Given the description of an element on the screen output the (x, y) to click on. 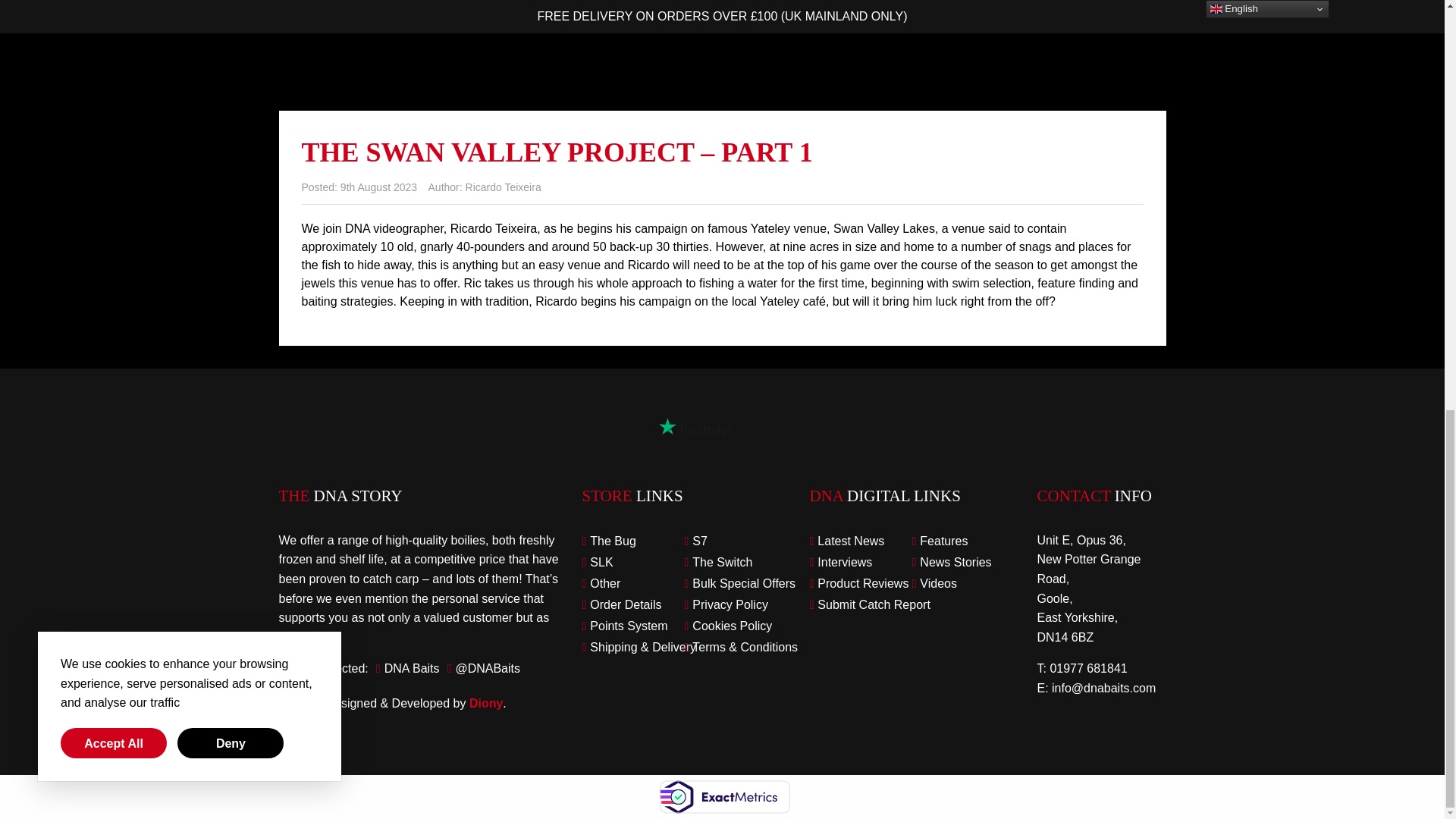
Customer reviews powered by Trustpilot (694, 426)
